Given the description of an element on the screen output the (x, y) to click on. 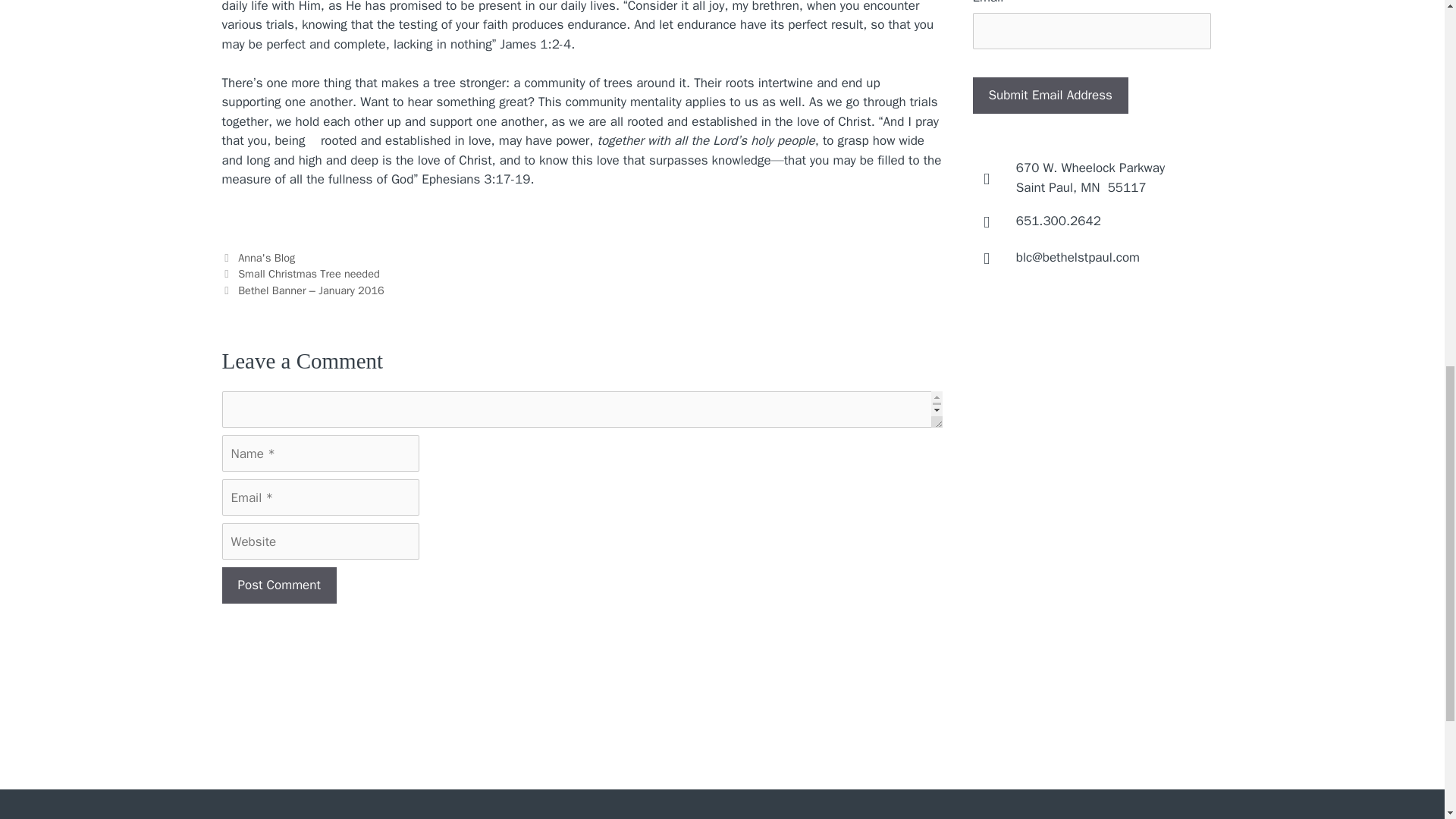
651.300.2642 (1058, 220)
Submit Email Address (1049, 94)
Post Comment (1090, 177)
Post Comment (278, 585)
Anna's Blog (278, 585)
Small Christmas Tree needed (266, 257)
Submit Email Address (309, 273)
